Given the description of an element on the screen output the (x, y) to click on. 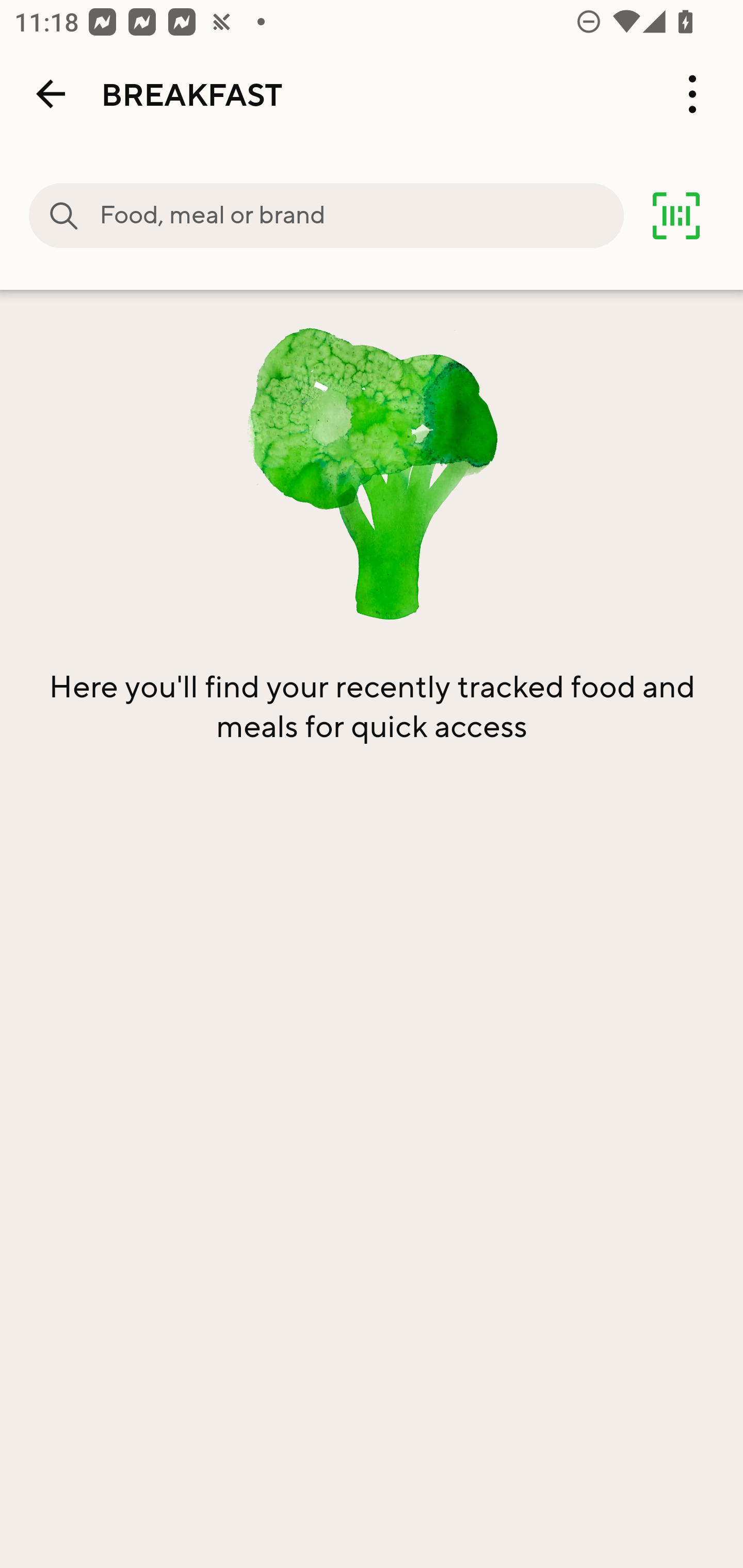
Back (50, 93)
Food, meal or brand (63, 215)
Food, meal or brand (361, 215)
